Given the description of an element on the screen output the (x, y) to click on. 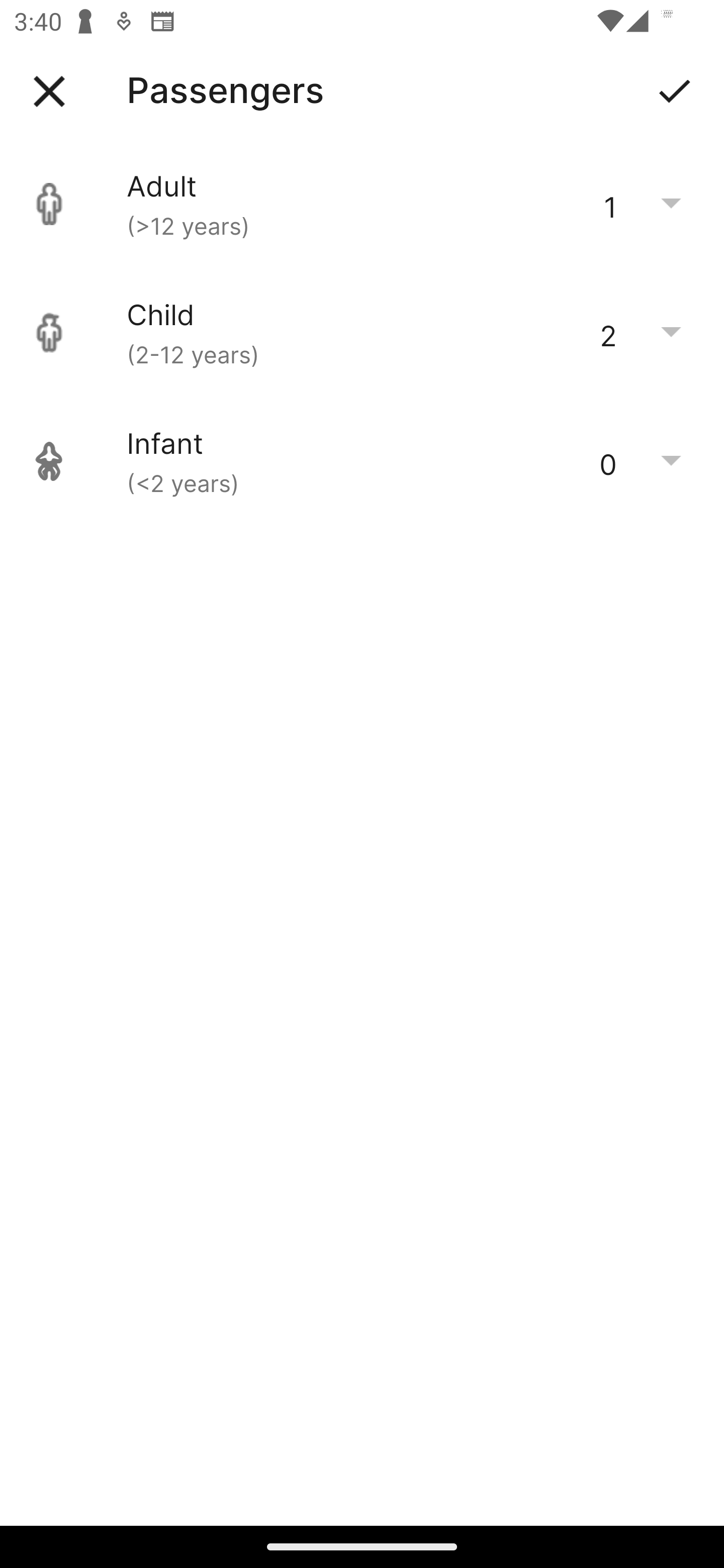
Adult (>12 years) 1 (362, 204)
Child (2-12 years) 2 (362, 332)
Infant (<2 years) 0 (362, 461)
